Given the description of an element on the screen output the (x, y) to click on. 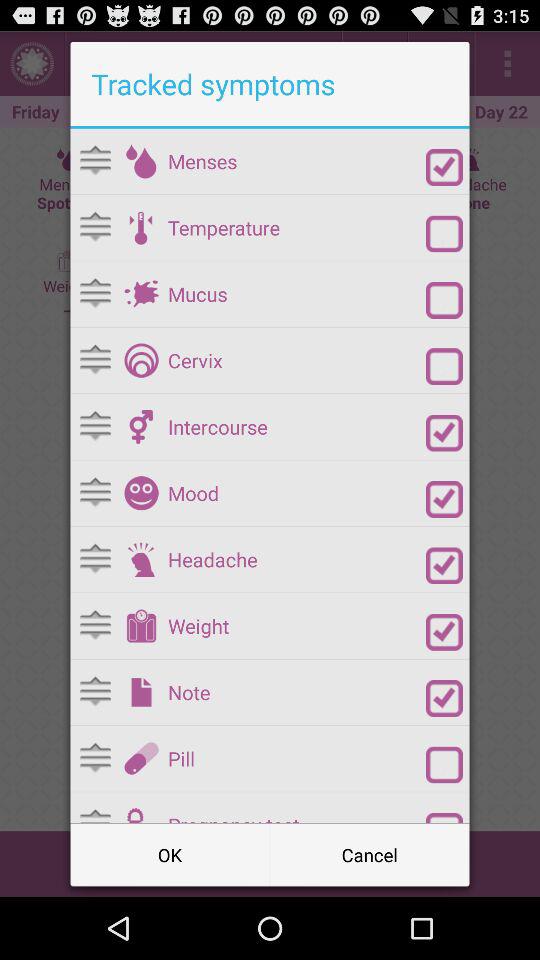
launch the temperature icon (296, 227)
